Given the description of an element on the screen output the (x, y) to click on. 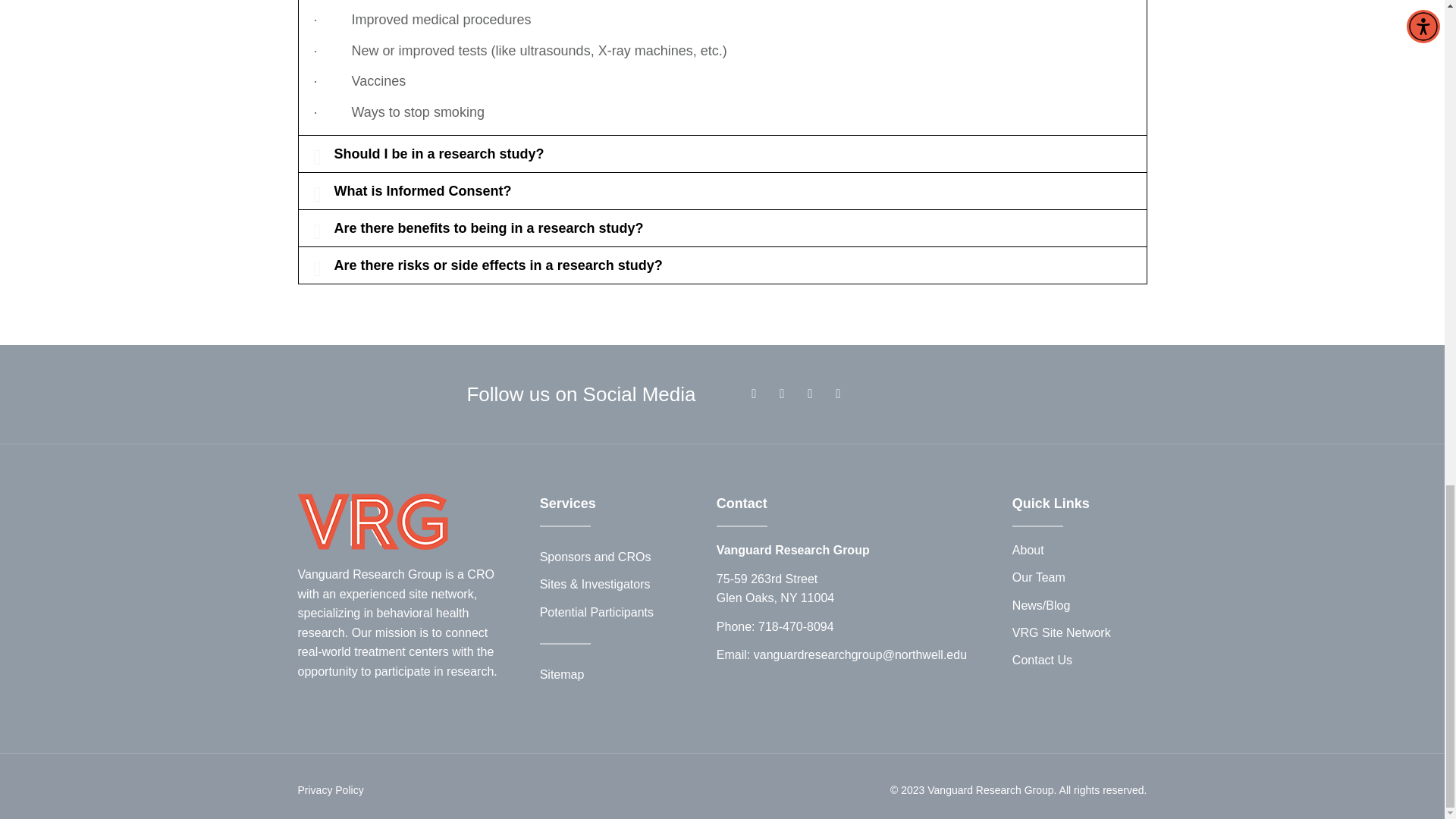
Are there benefits to being in a research study? (488, 227)
What is Informed Consent? (422, 191)
Are there risks or side effects in a research study? (497, 264)
Should I be in a research study? (438, 153)
